Given the description of an element on the screen output the (x, y) to click on. 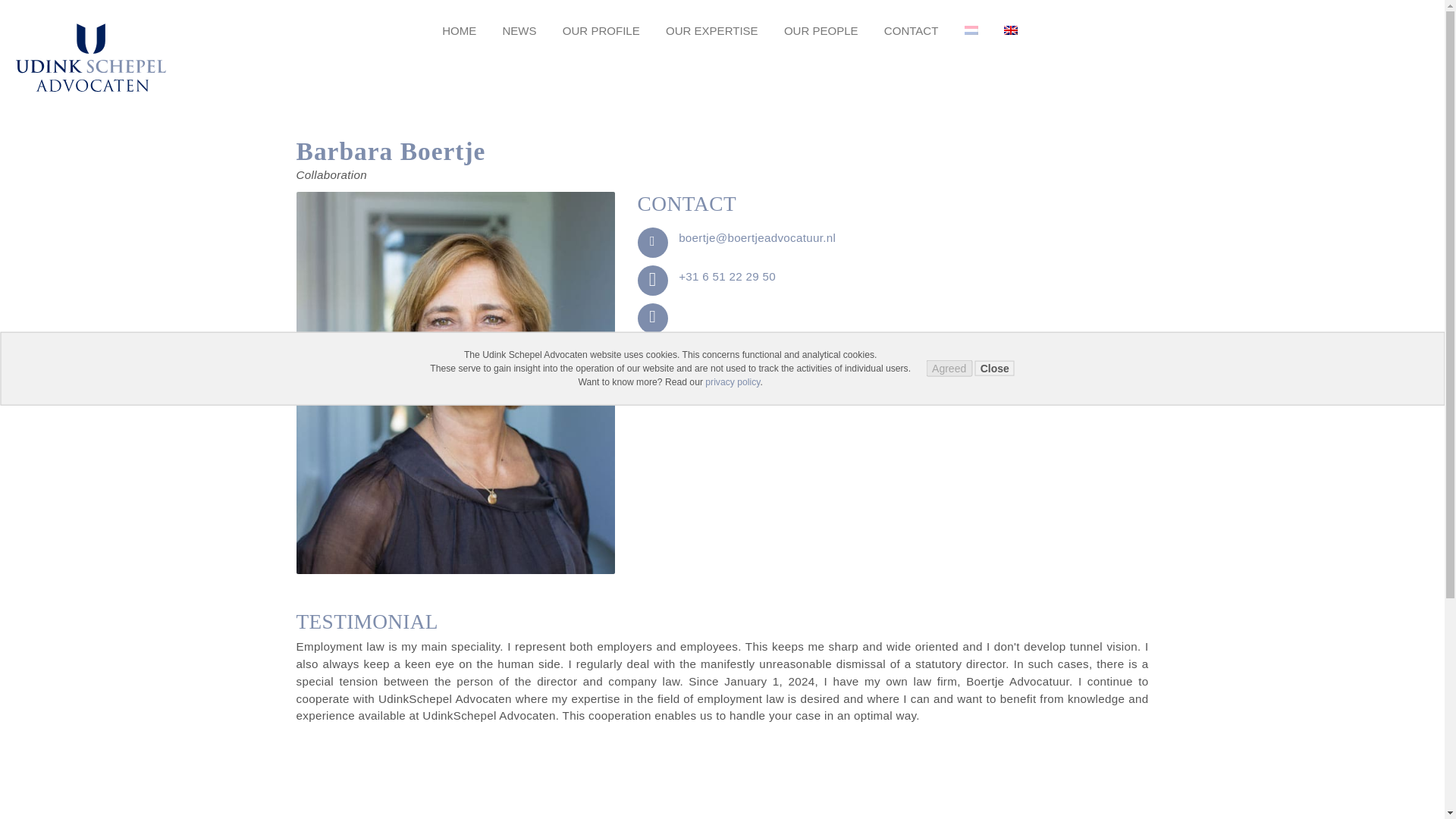
HOME (459, 30)
News (518, 30)
Our expertise (711, 30)
privacy policy (732, 381)
NEWS (518, 30)
Our profile (601, 30)
OUR EXPERTISE (711, 30)
Agreed (949, 368)
Close (994, 368)
OUR PROFILE (601, 30)
CONTACT (911, 30)
OUR PEOPLE (821, 30)
Home (459, 30)
